Given the description of an element on the screen output the (x, y) to click on. 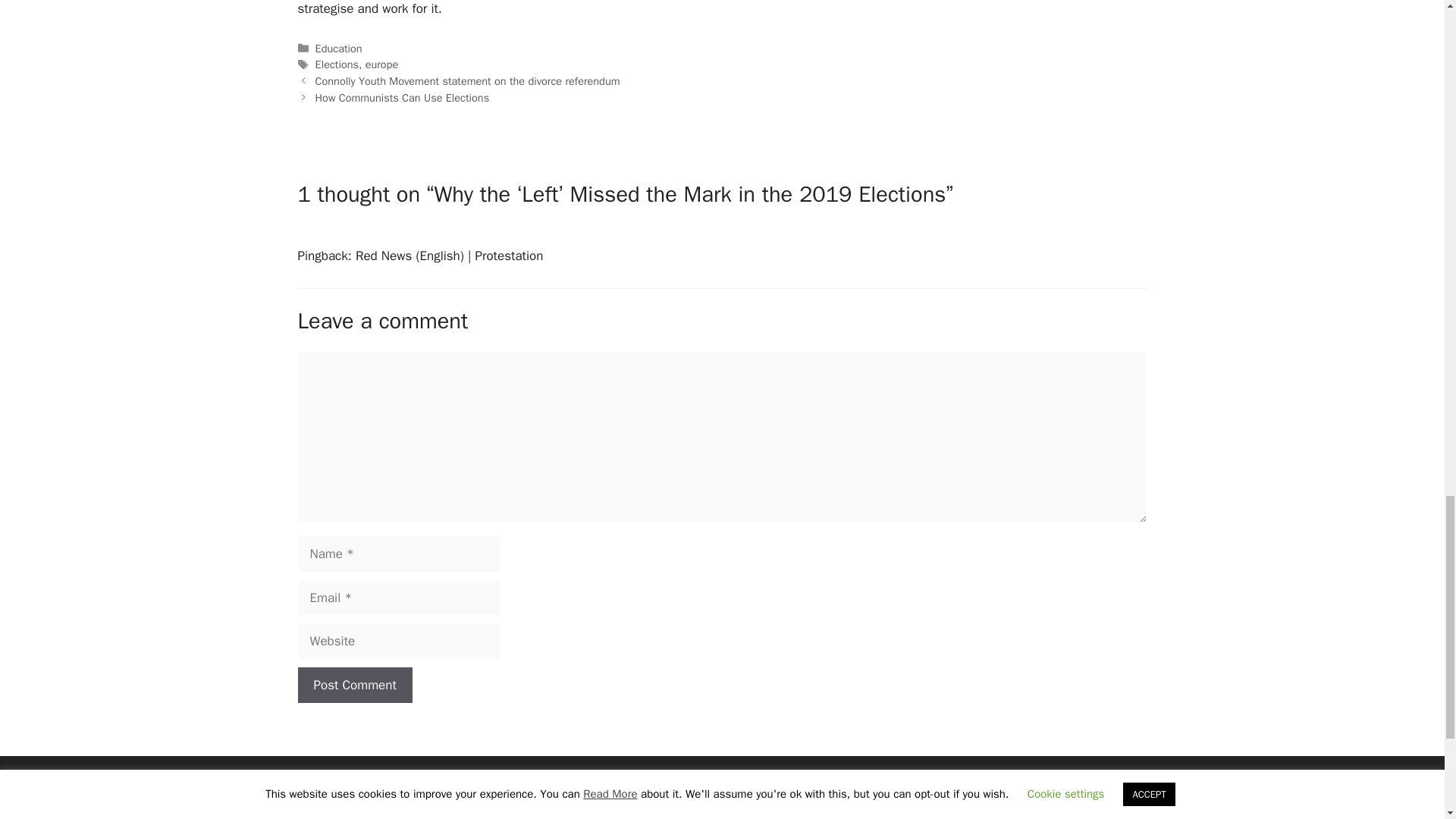
Post Comment (354, 685)
How Communists Can Use Elections (402, 97)
Education (338, 47)
Connolly Youth Movement statement on the divorce referendum (467, 80)
Elections (336, 64)
europe (381, 64)
Home (781, 783)
Post Comment (354, 685)
Programme (781, 815)
